Given the description of an element on the screen output the (x, y) to click on. 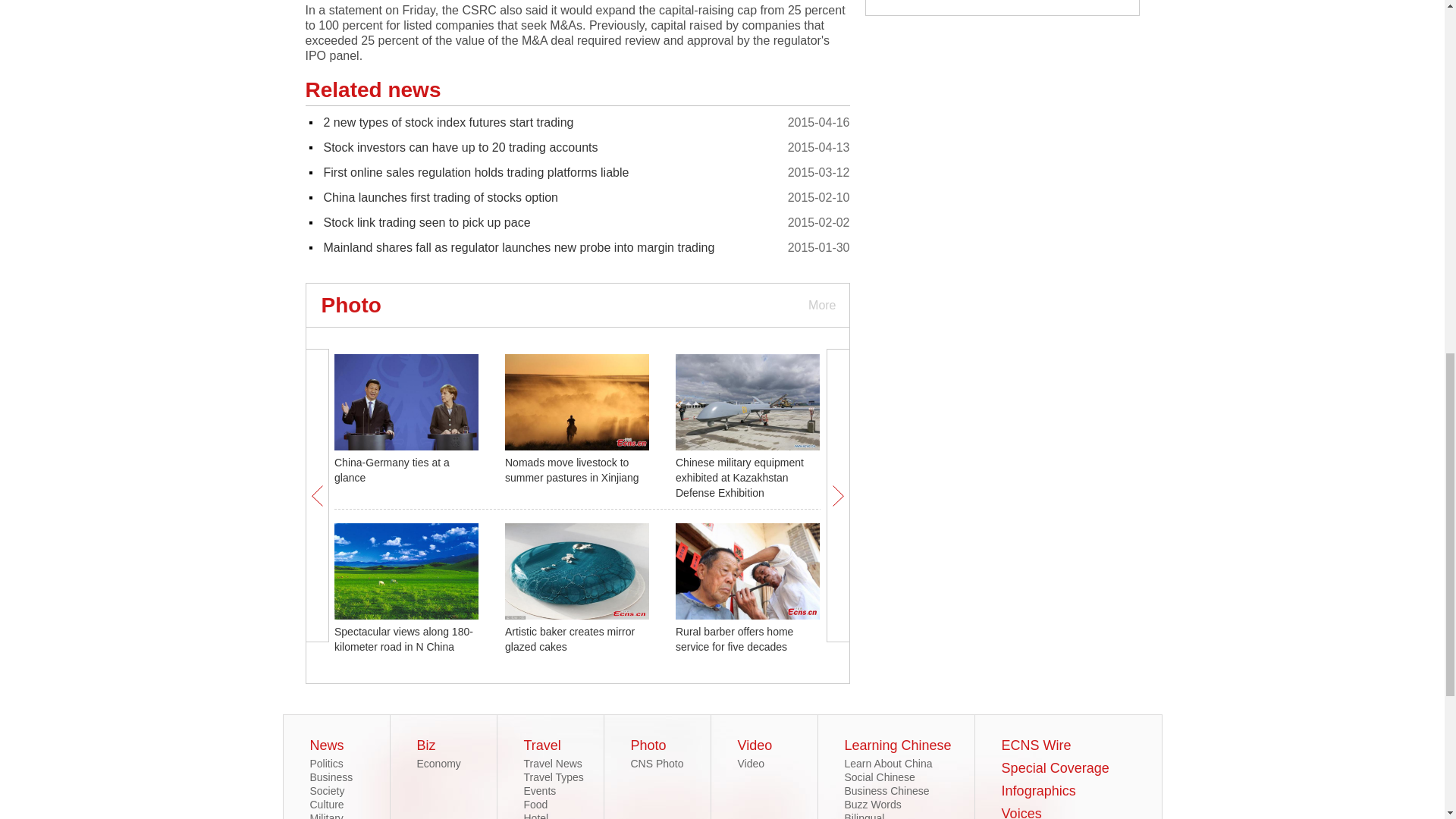
Spectacular views along 180-kilometer road in N China (403, 638)
Stock link trading seen to pick up pace (426, 222)
Nomads move livestock to summer pastures in Xinjiang (572, 470)
China launches first trading of stocks option (440, 196)
First online sales regulation holds trading platforms liable (475, 172)
2 new types of stock index futures start trading (448, 122)
Artistic baker creates mirror glazed cakes (569, 638)
China-Germany ties at a glance (391, 470)
Stock investors can have up to 20 trading accounts (459, 146)
